Given the description of an element on the screen output the (x, y) to click on. 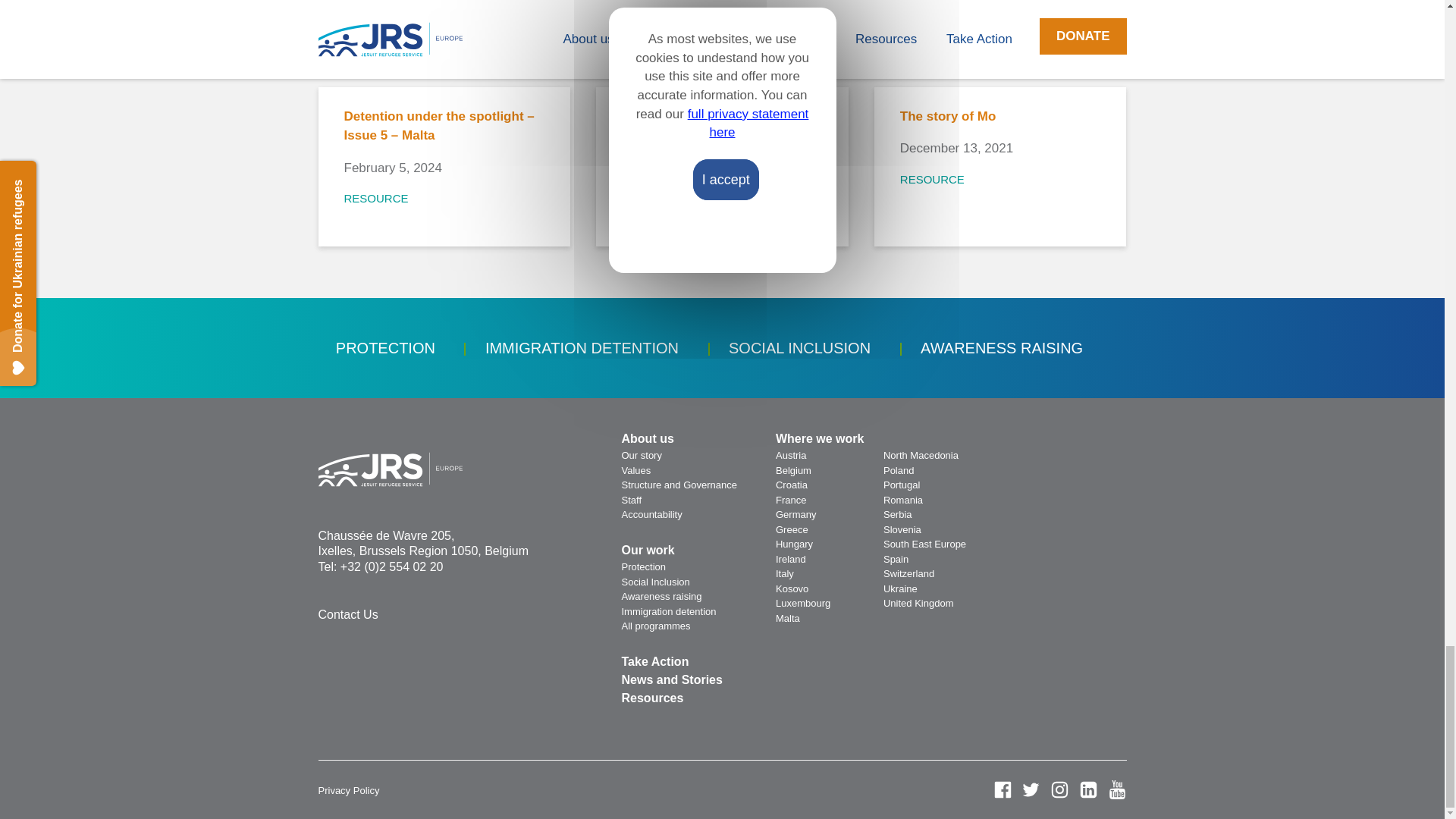
Immigration detention (668, 611)
The story of Mo (999, 116)
Accountability (651, 514)
PROTECTION (385, 347)
Awareness raising (661, 595)
News and Stories (671, 679)
Social Inclusion (655, 581)
IMMIGRATION DETENTION (581, 347)
SOCIAL INCLUSION (799, 347)
Contact Us (348, 614)
